Given the description of an element on the screen output the (x, y) to click on. 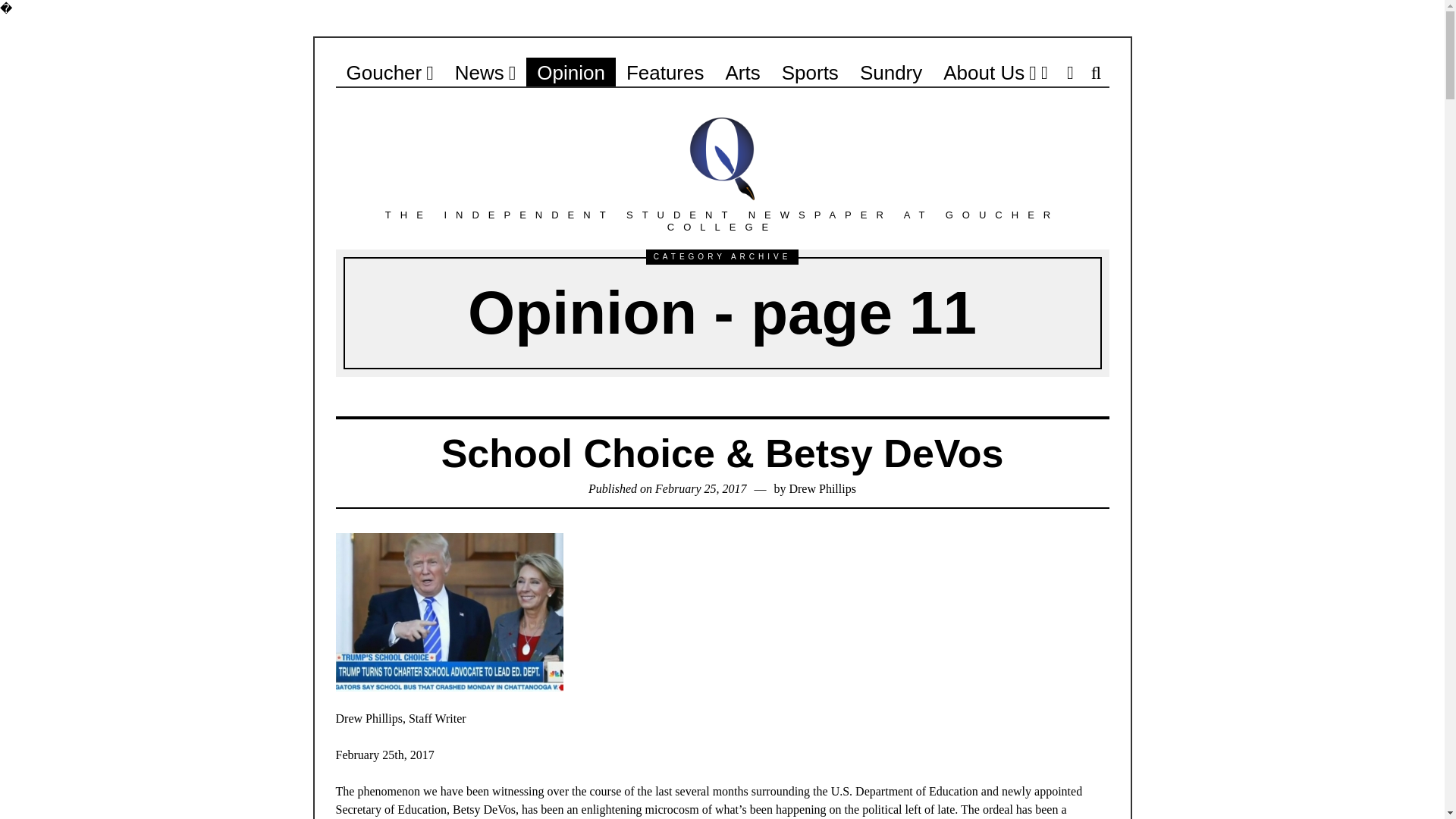
News (485, 72)
Features (664, 72)
Arts (742, 72)
Drew Phillips (822, 488)
About Us (989, 72)
Sundry (890, 72)
Sports (809, 72)
Goucher (389, 72)
Instagram (1070, 72)
Twitter (1043, 72)
Opinion (570, 72)
